Given the description of an element on the screen output the (x, y) to click on. 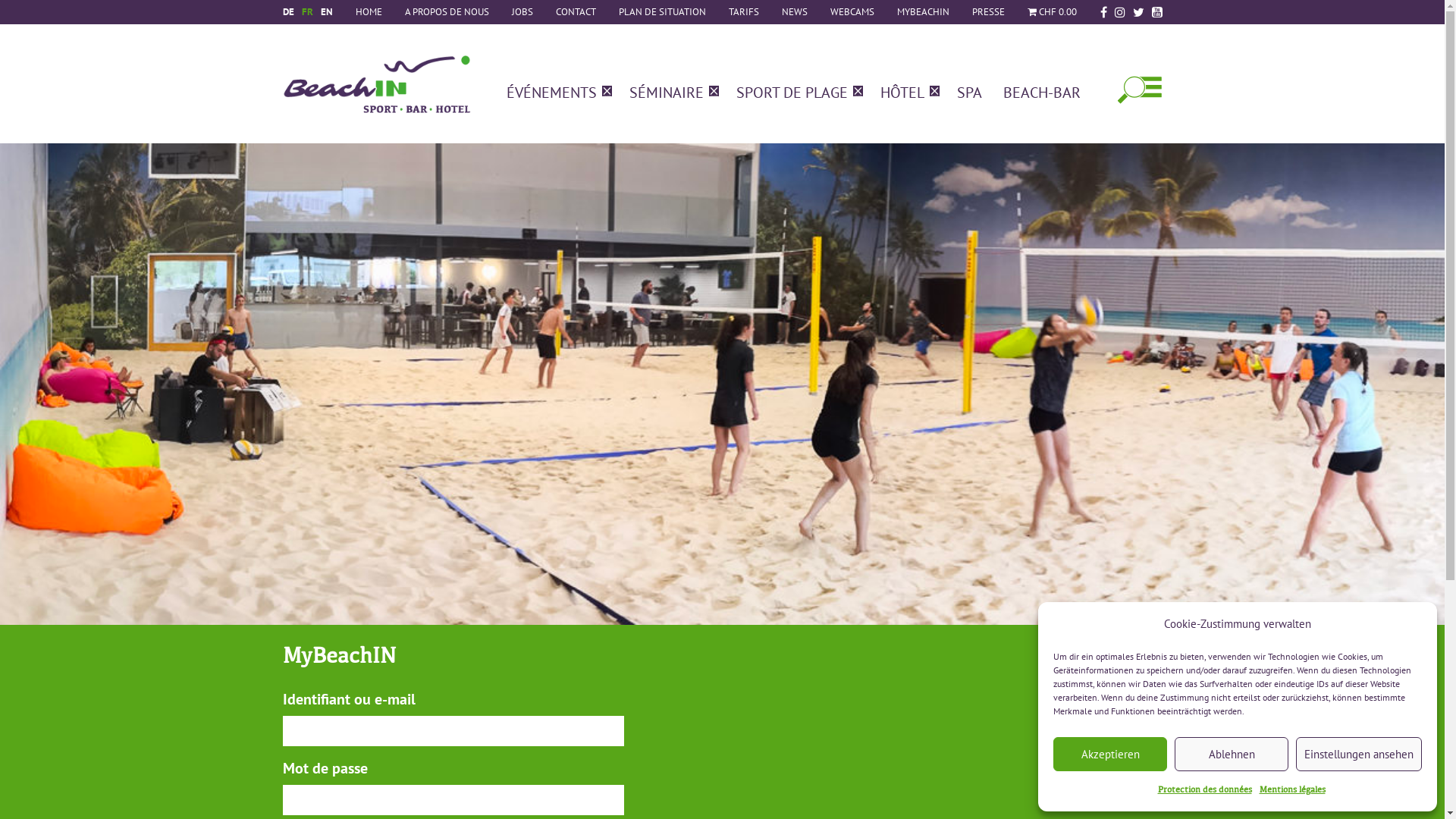
A PROPOS DE NOUS Element type: text (445, 12)
TARIFS Element type: text (743, 12)
PLAN DE SITUATION Element type: text (661, 12)
MYBEACHIN Element type: text (922, 12)
Einstellungen ansehen Element type: text (1358, 754)
CONTACT Element type: text (575, 12)
SPA Element type: text (969, 92)
FR Element type: text (306, 12)
Skip to content Element type: text (279, 31)
NEWS Element type: text (794, 12)
BeachIN Sport, Bar & Hotel Element type: text (376, 95)
PRESSE Element type: text (987, 12)
EN Element type: text (326, 12)
CHF 0.00 Element type: text (1052, 12)
Akzeptieren Element type: text (1110, 754)
JOBS Element type: text (522, 12)
DE Element type: text (288, 12)
HOME Element type: text (368, 12)
SPORT DE PLAGE Element type: text (791, 92)
Skip to content Element type: text (307, 106)
Ablehnen Element type: text (1231, 754)
BEACH-BAR Element type: text (1041, 92)
WEBCAMS Element type: text (852, 12)
